Given the description of an element on the screen output the (x, y) to click on. 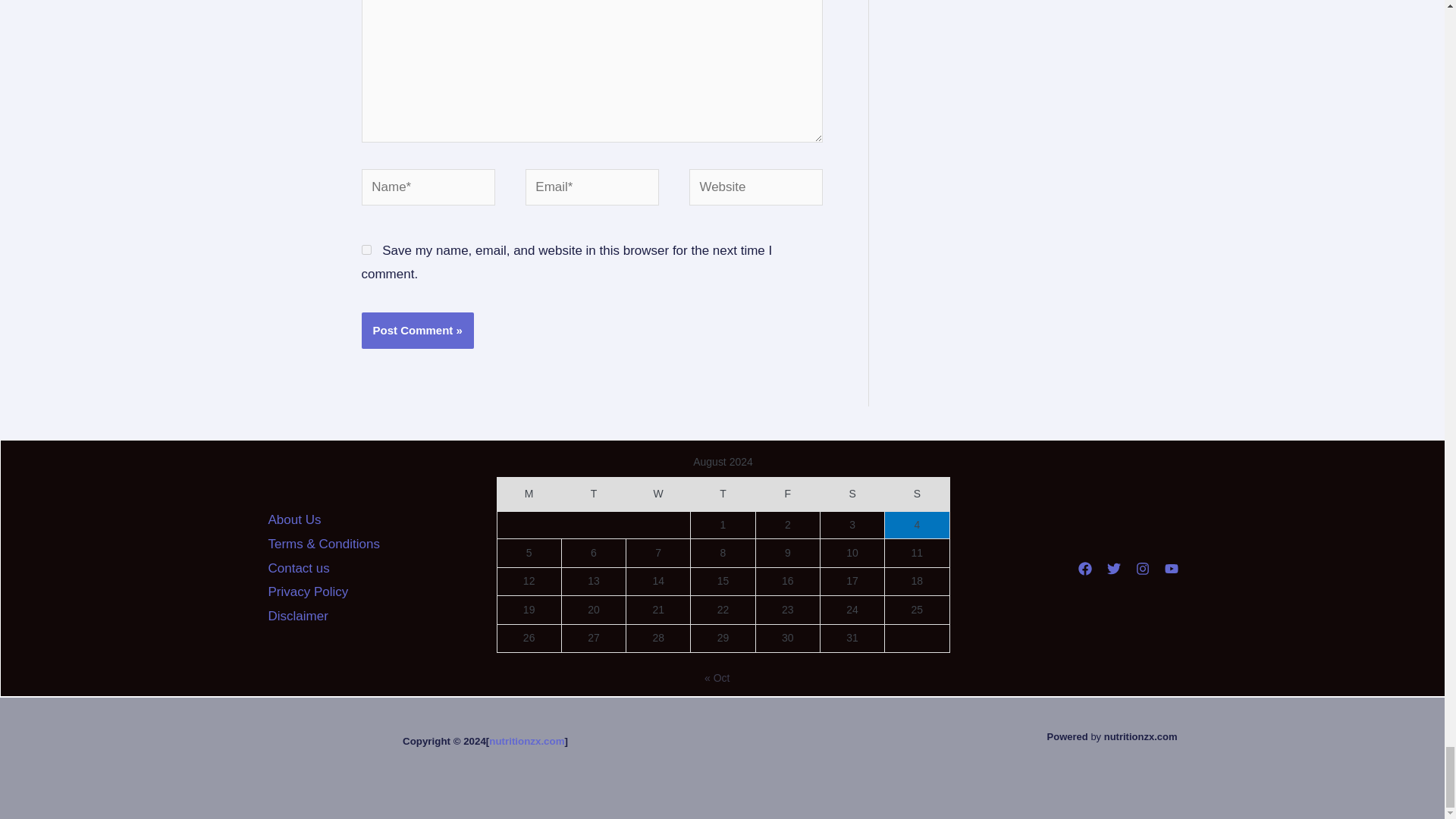
Friday (787, 494)
Saturday (851, 494)
yes (366, 249)
Thursday (722, 494)
Wednesday (658, 494)
Tuesday (593, 494)
Sunday (917, 494)
Monday (528, 494)
